Given the description of an element on the screen output the (x, y) to click on. 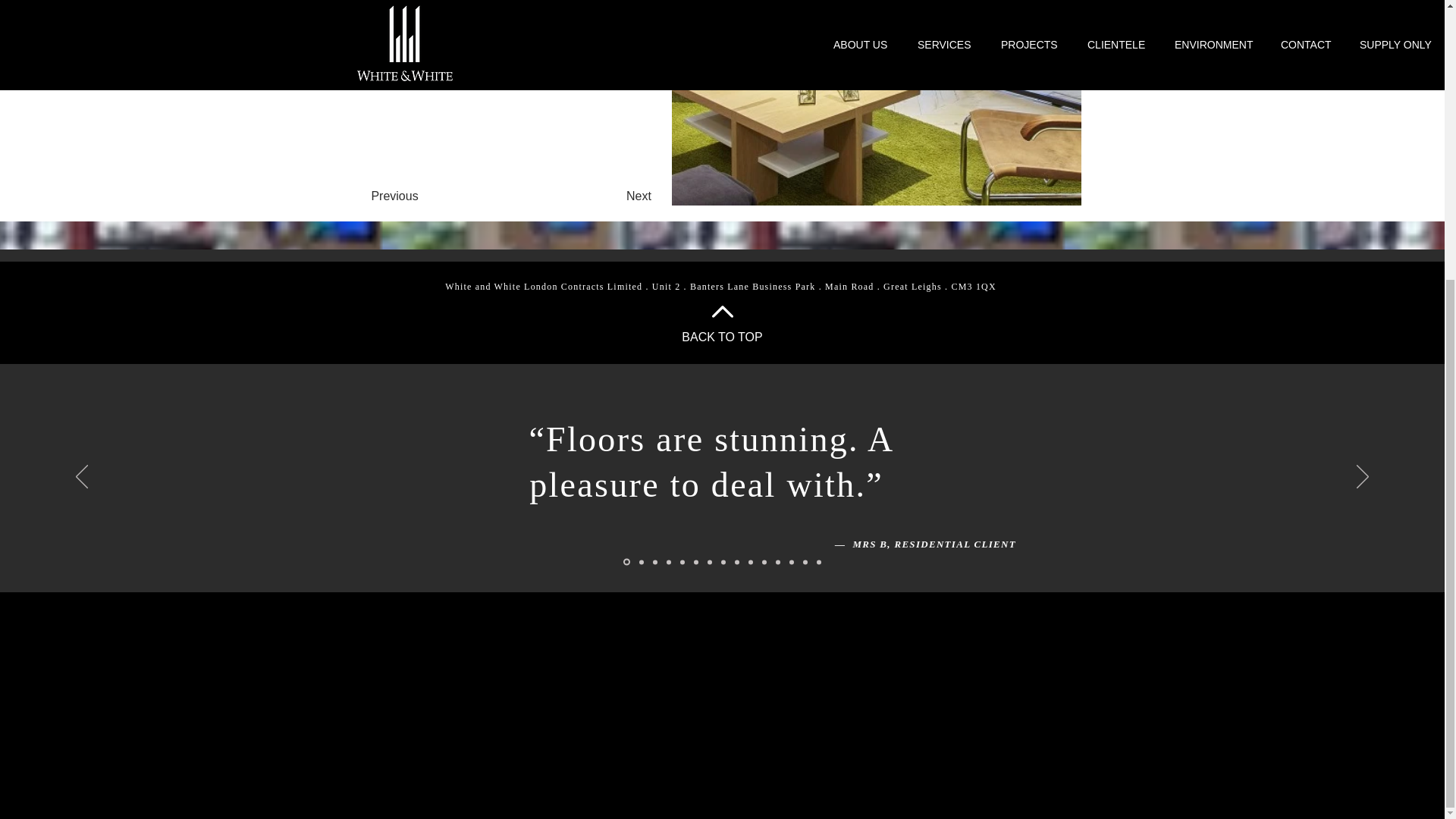
Previous (394, 196)
Next (638, 196)
BACK TO TOP (721, 336)
